Given the description of an element on the screen output the (x, y) to click on. 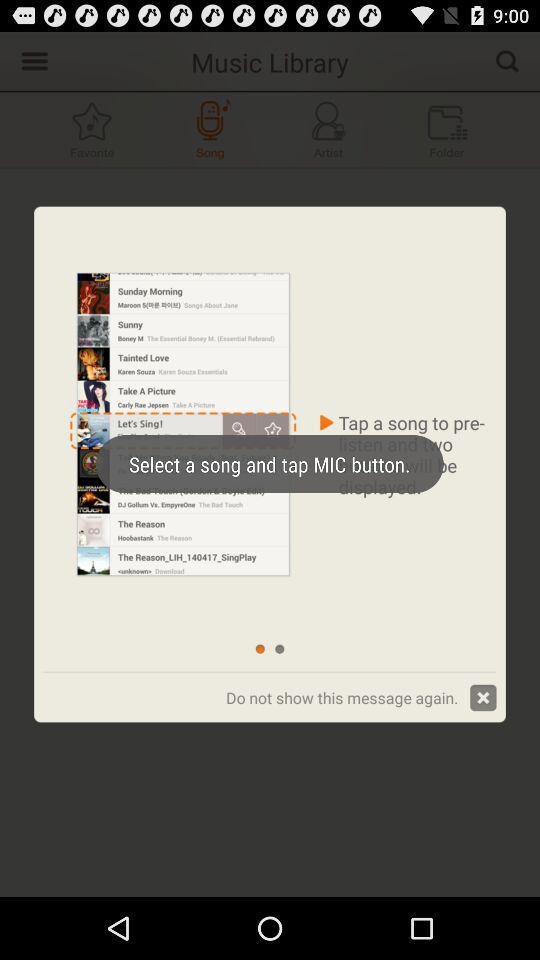
open side panel (32, 60)
